Given the description of an element on the screen output the (x, y) to click on. 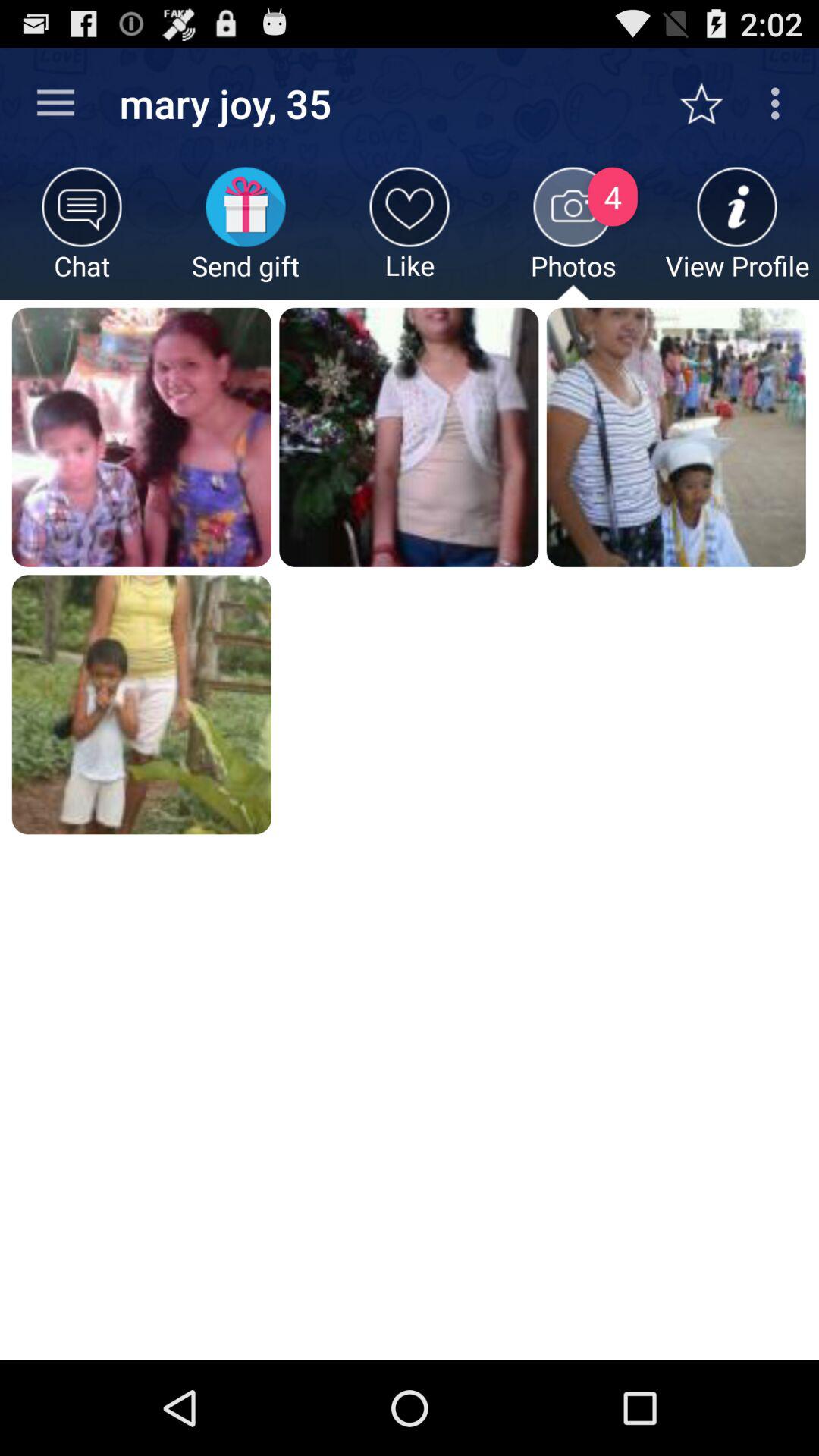
turn off app to the right of mary joy, 35 app (709, 103)
